Given the description of an element on the screen output the (x, y) to click on. 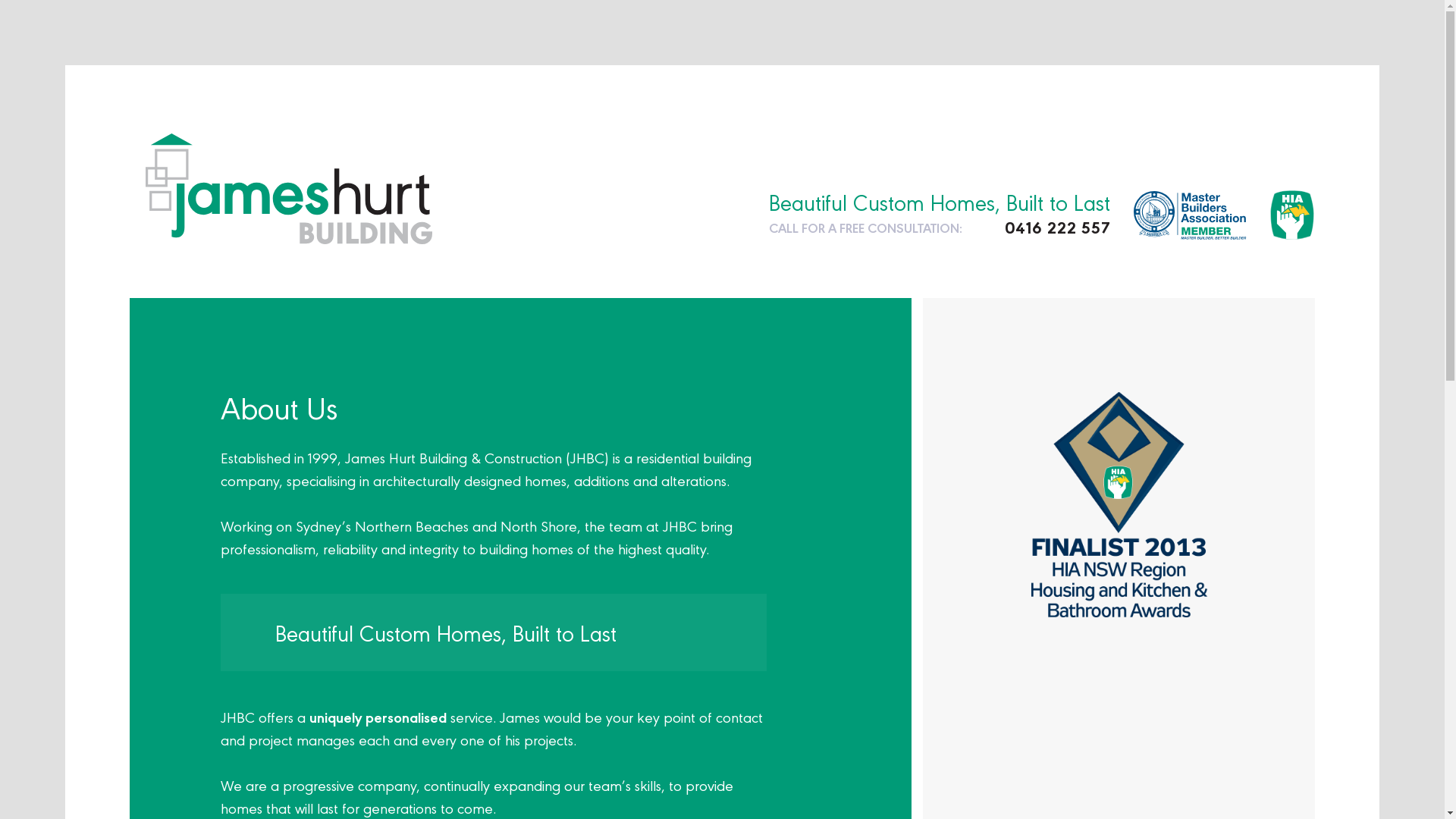
Skip to content Element type: text (129, 79)
0416 222 557 Element type: text (1057, 227)
